Given the description of an element on the screen output the (x, y) to click on. 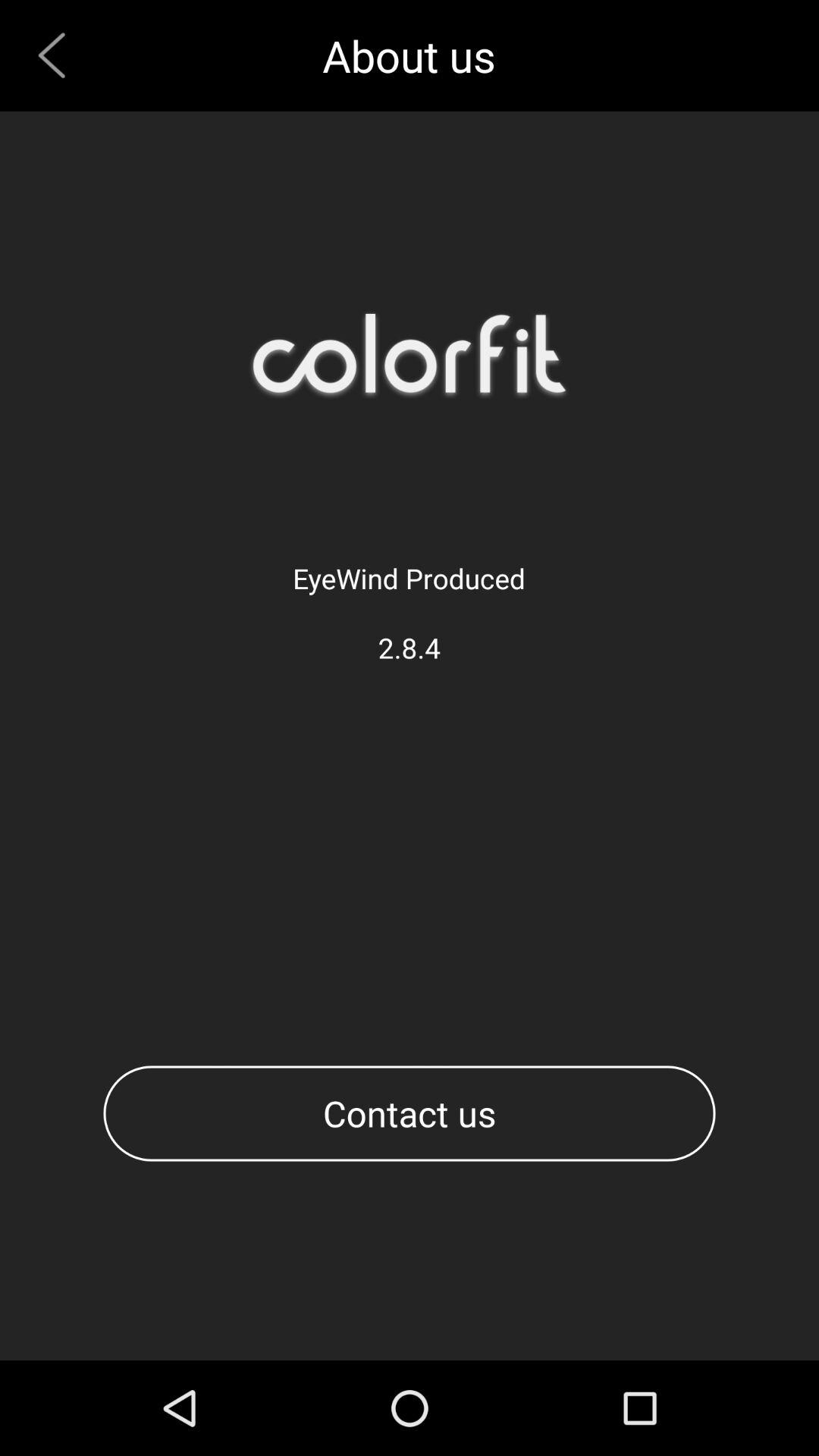
open the contact us at the bottom (409, 1113)
